Given the description of an element on the screen output the (x, y) to click on. 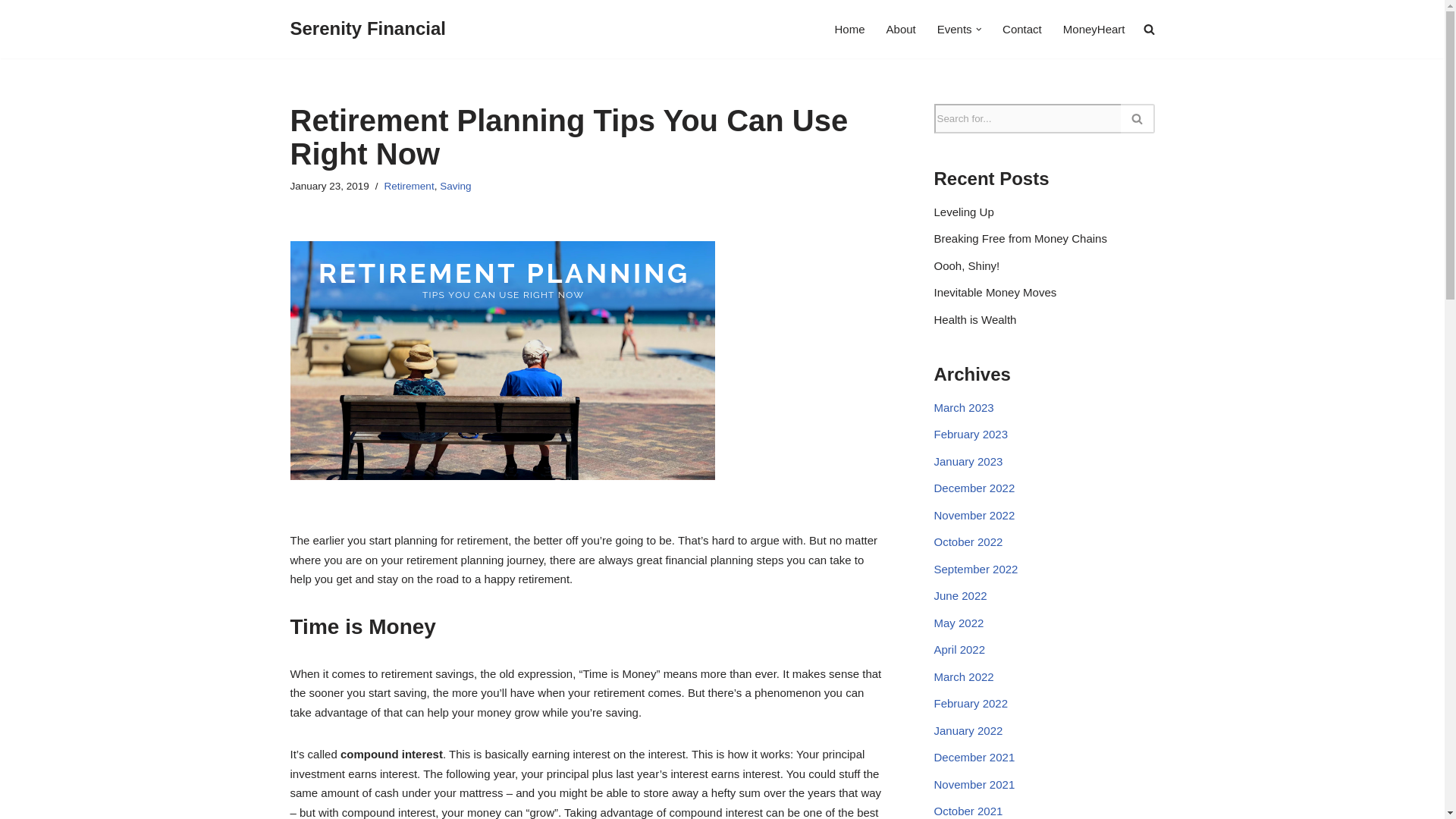
Serenity Financial (367, 29)
March 2023 (964, 407)
Breaking Free from Money Chains (1020, 237)
About (900, 28)
Health is Wealth (975, 318)
Inevitable Money Moves (995, 291)
Saving (454, 185)
Oooh, Shiny! (967, 265)
Events (954, 28)
Leveling Up (964, 211)
Contact (1022, 28)
Home (849, 28)
MoneyHeart (1093, 28)
Retirement (408, 185)
Skip to content (11, 31)
